Given the description of an element on the screen output the (x, y) to click on. 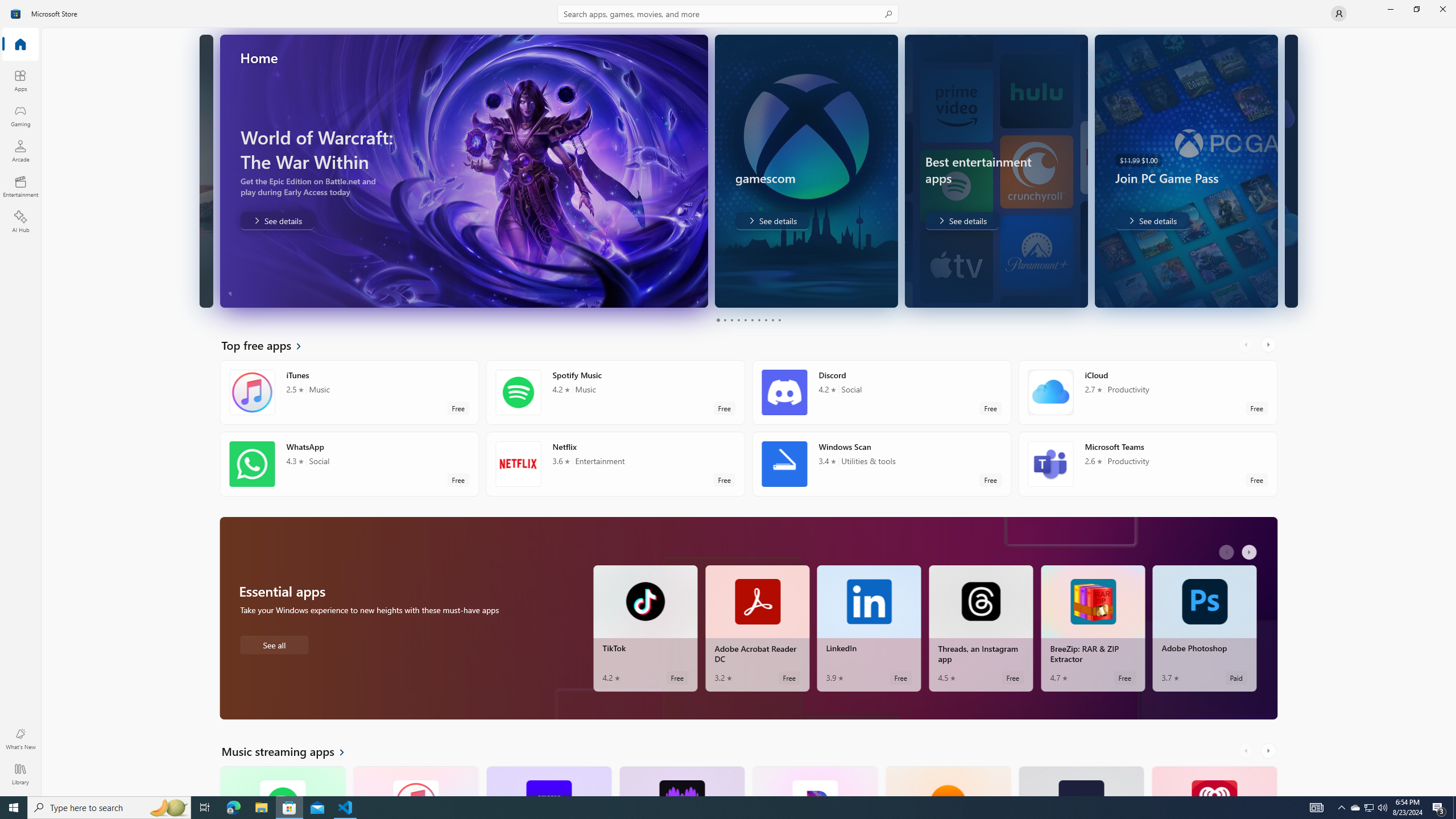
See all  Essential apps (274, 644)
AutomationID: NavigationControl (728, 398)
Page 10 (779, 319)
Page 4 (738, 319)
Page 2 (724, 319)
Page 8 (764, 319)
TikTok. Average rating of 4.2 out of five stars. Free   (644, 628)
